Given the description of an element on the screen output the (x, y) to click on. 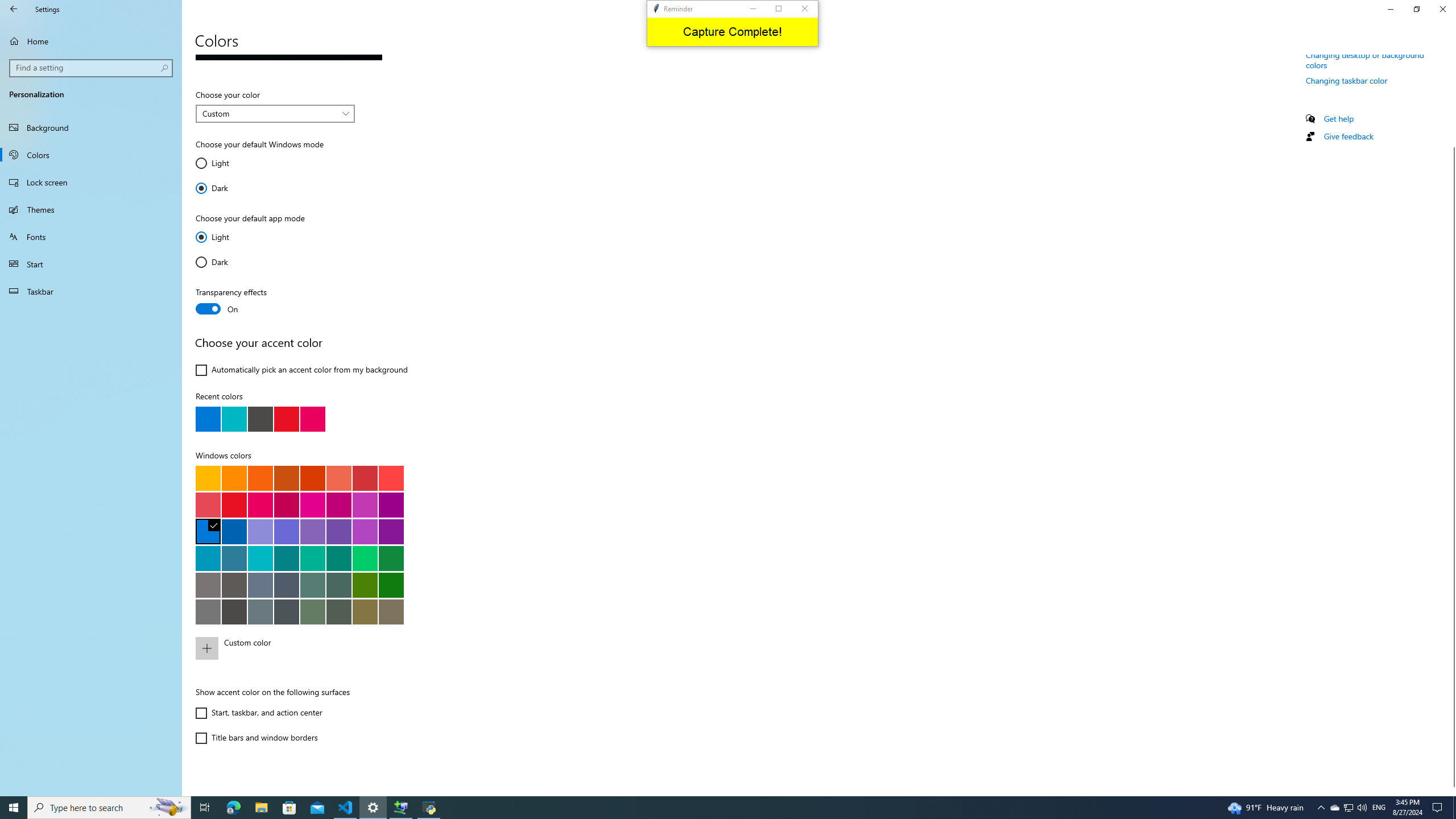
Navy blue (234, 531)
Plum (338, 504)
Orchid (390, 504)
Themes (91, 208)
Violet red light (364, 531)
Orange dark (285, 477)
Orange bright (260, 477)
Sage (338, 611)
Choose your color (275, 113)
Mint dark (338, 557)
Purple shadow dark (285, 531)
Rose (285, 504)
Changing desktop or background colors (1364, 59)
